Given the description of an element on the screen output the (x, y) to click on. 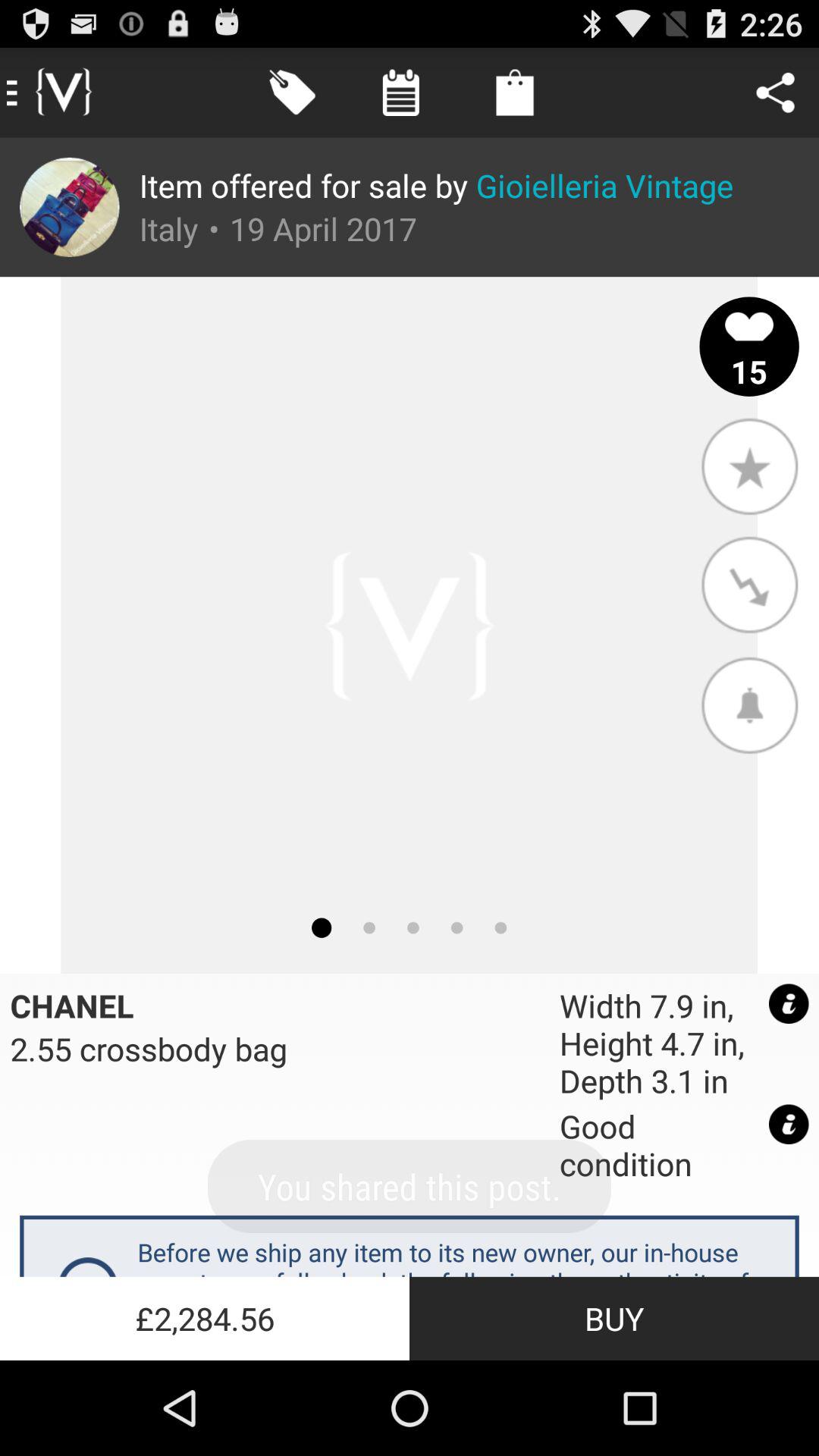
turn off the icon below before we ship app (614, 1318)
